Given the description of an element on the screen output the (x, y) to click on. 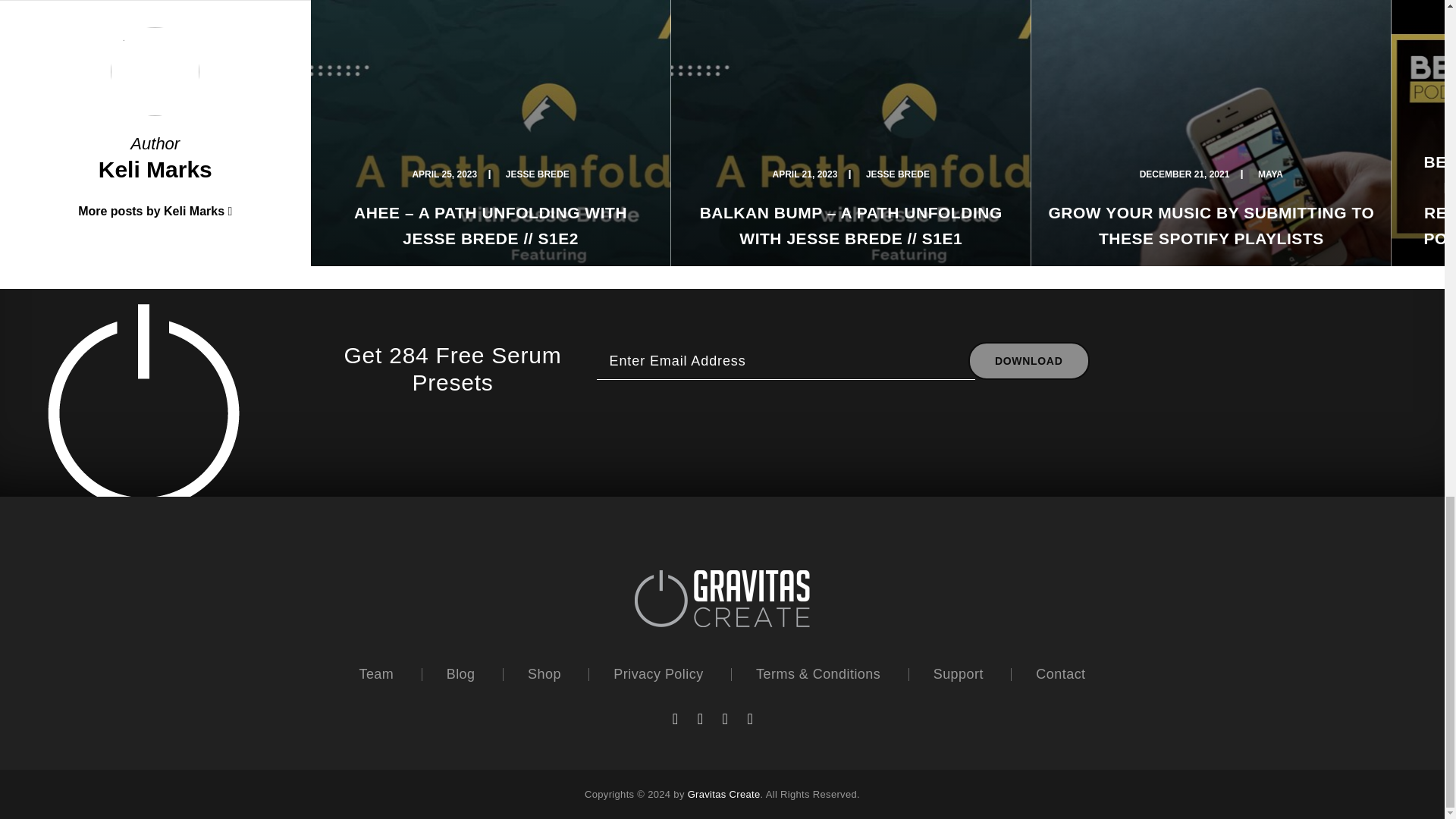
Download (1028, 361)
GROW YOUR MUSIC BY SUBMITTING TO THESE SPOTIFY PLAYLISTS (1211, 225)
